Given the description of an element on the screen output the (x, y) to click on. 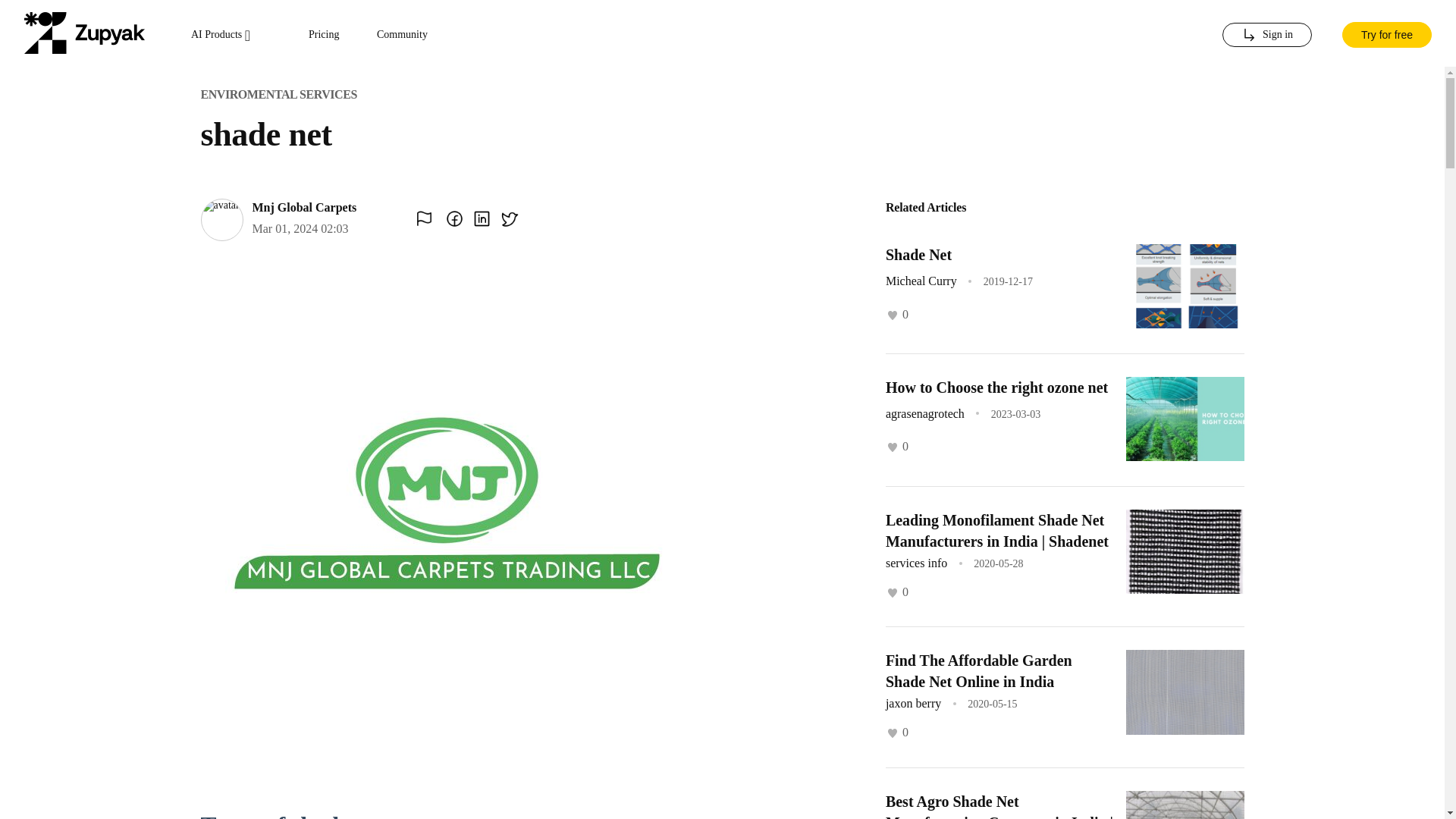
Community (402, 34)
Pricing (323, 34)
Find The Affordable Garden Shade Net Online in India (978, 670)
How to Choose the right ozone net (996, 387)
Shade Net (918, 254)
ENVIROMENTAL SERVICES (278, 93)
 Sign in (1267, 34)
Try for free (1386, 33)
